Given the description of an element on the screen output the (x, y) to click on. 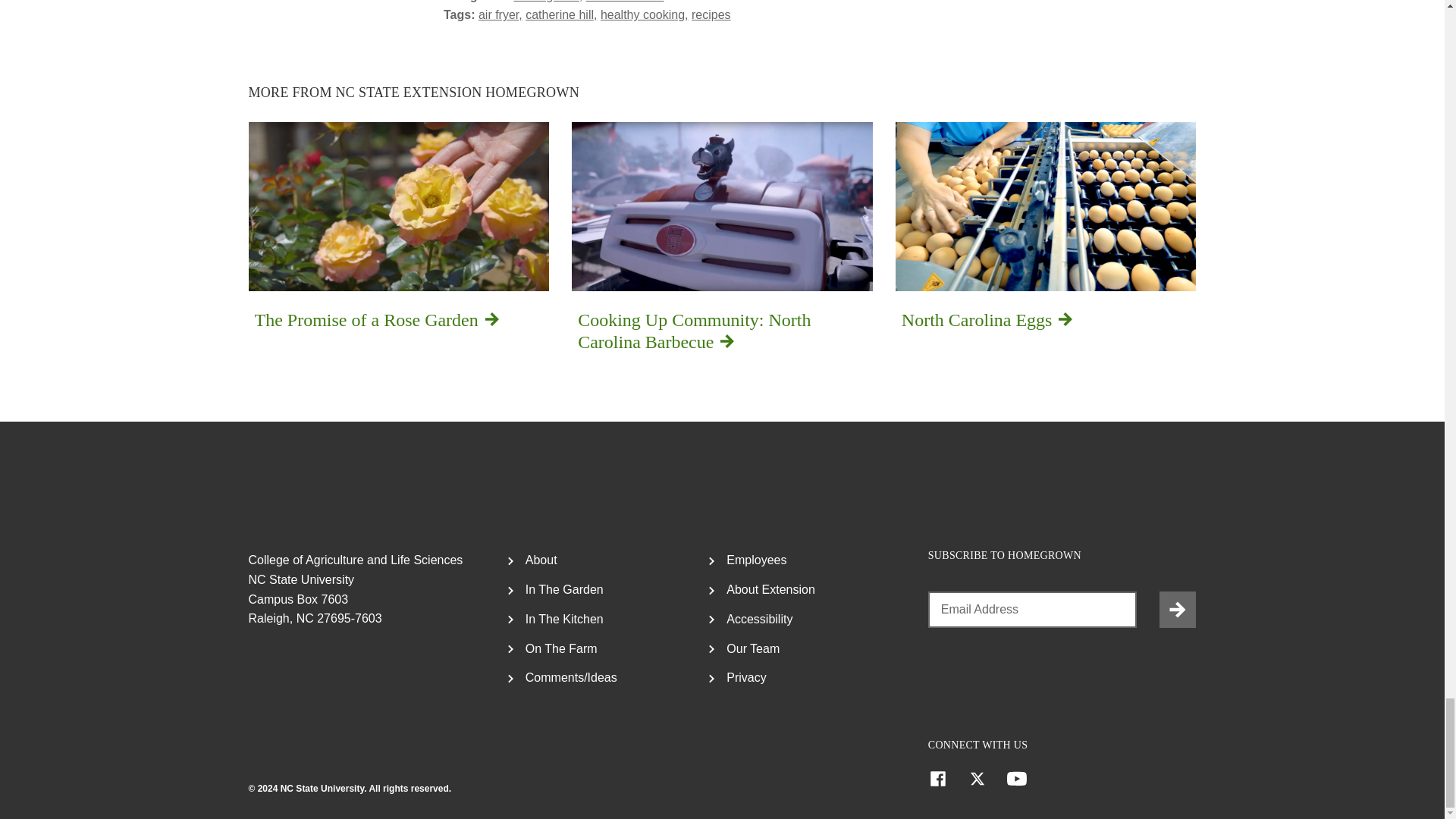
Facebook (937, 778)
YouTube (1016, 778)
X (977, 778)
